Given the description of an element on the screen output the (x, y) to click on. 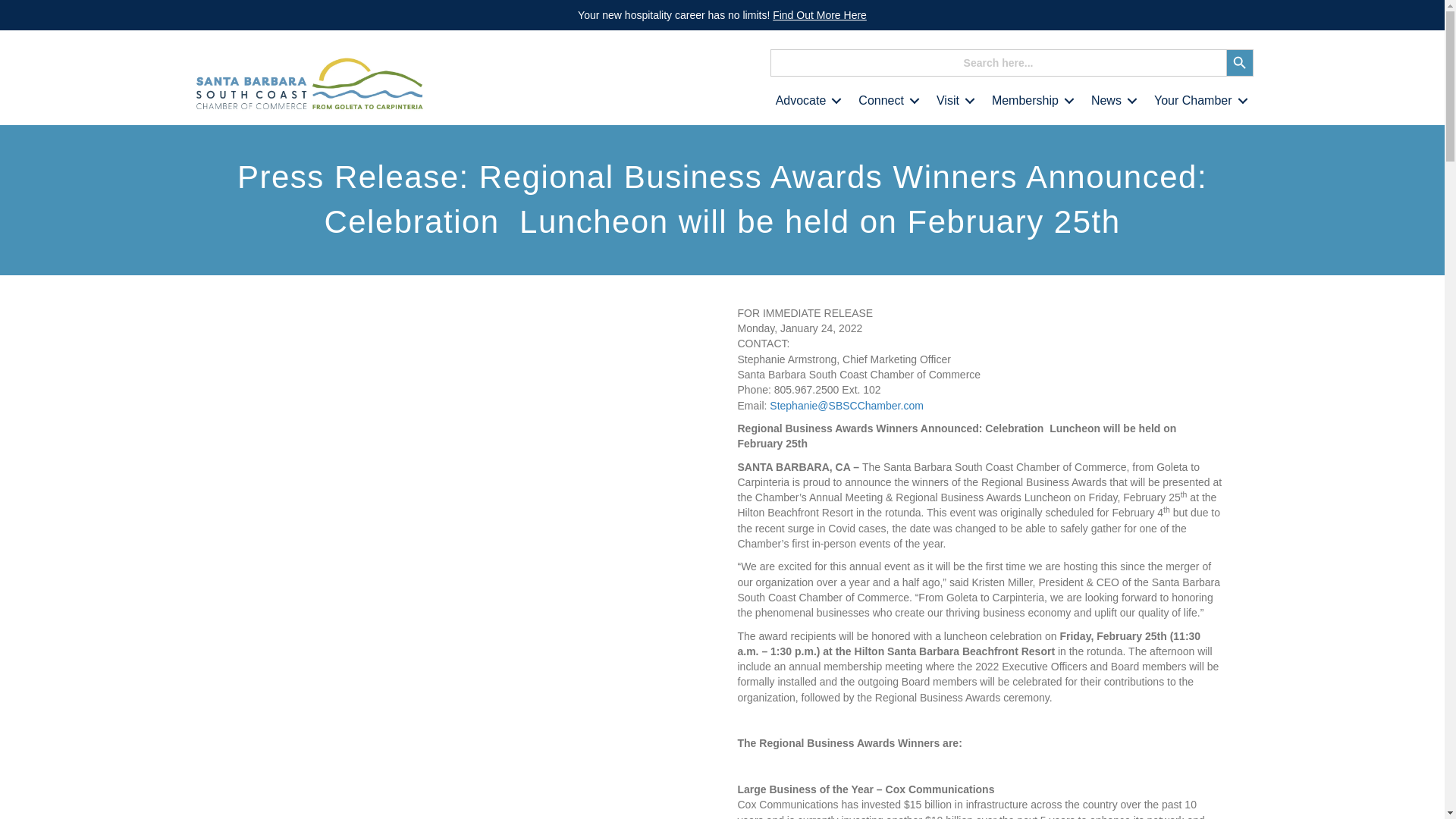
News (1111, 100)
Your Chamber (1197, 100)
Membership (1030, 100)
Advocate (806, 100)
Find Out More Here (819, 15)
Search Button (1238, 62)
Visit (952, 100)
Connect (885, 100)
